Given the description of an element on the screen output the (x, y) to click on. 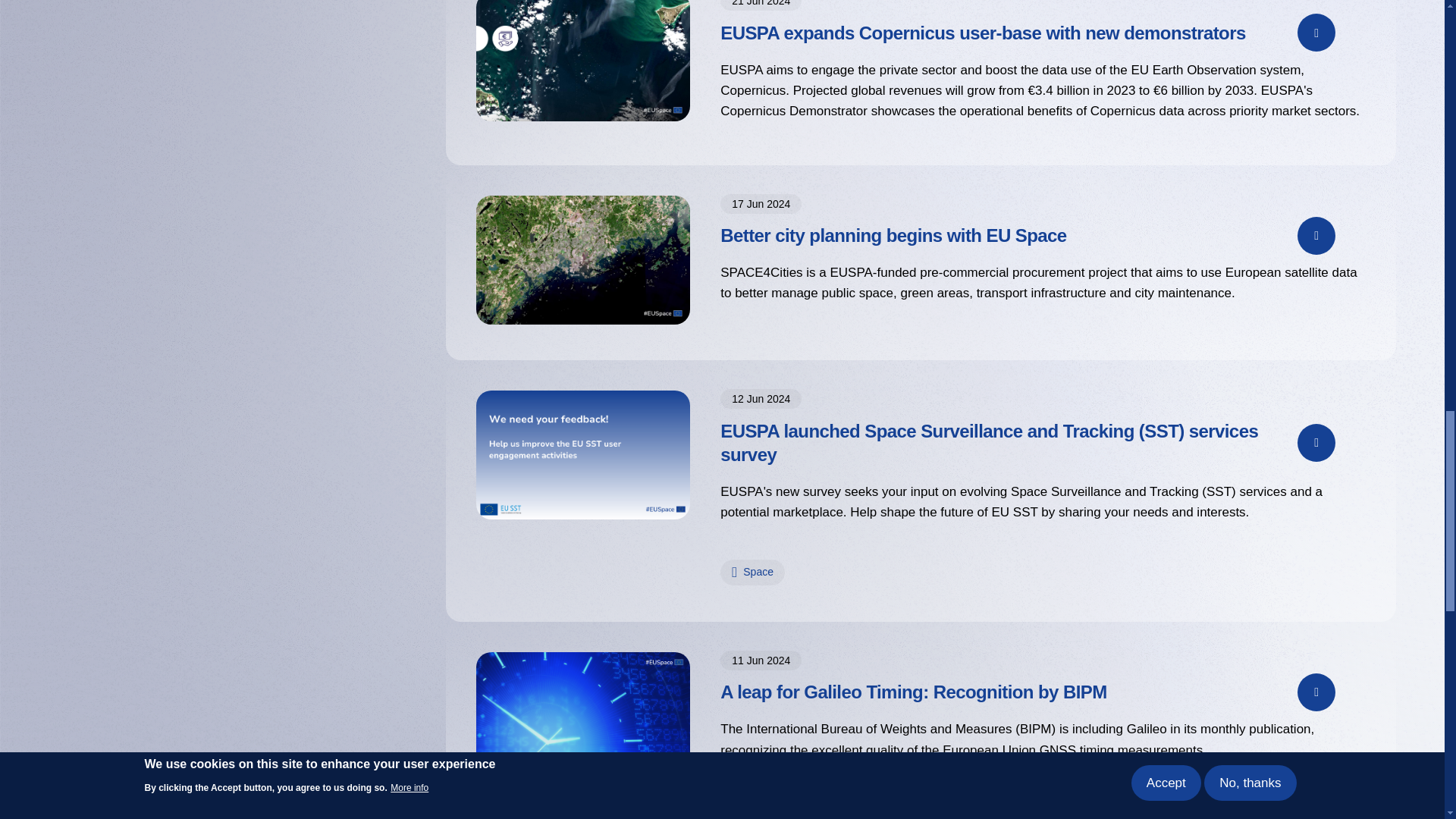
European Union Agency for the Space Programme (741, 491)
European Union Agency for the Space Programme (740, 69)
European Union Agency for the Space Programme (850, 272)
